Given the description of an element on the screen output the (x, y) to click on. 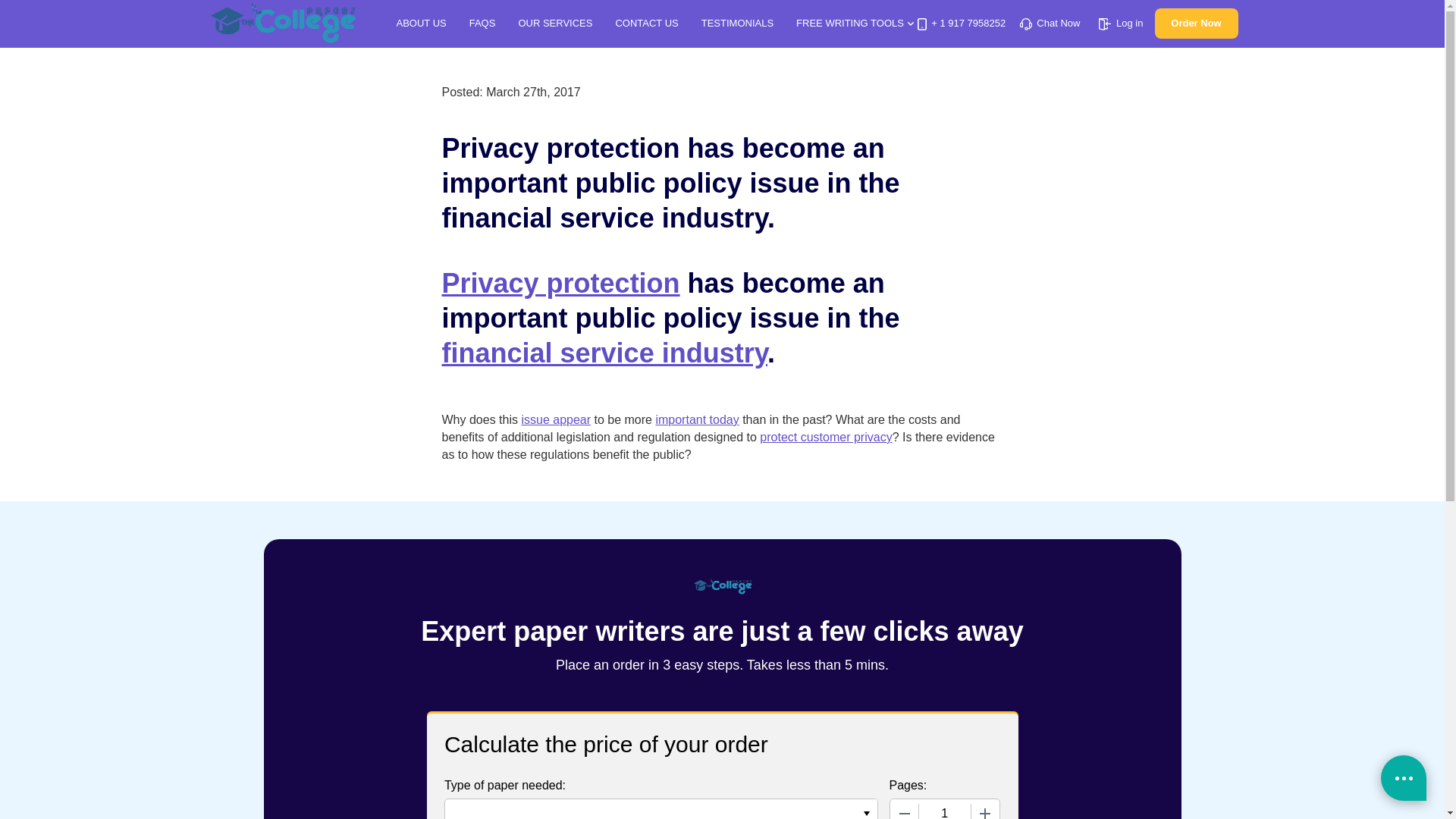
OUR SERVICES (555, 22)
Log in (1120, 22)
Chat Now (1050, 22)
financial service industry (604, 352)
Decrease (903, 809)
ABOUT US (420, 22)
FREE WRITING TOOLS (855, 23)
TESTIMONIALS (737, 22)
FAQS (482, 22)
Order Now (1195, 23)
protect customer privacy (825, 436)
issue appear (556, 419)
CONTACT US (646, 22)
Privacy protection (560, 282)
Increase (984, 809)
